Given the description of an element on the screen output the (x, y) to click on. 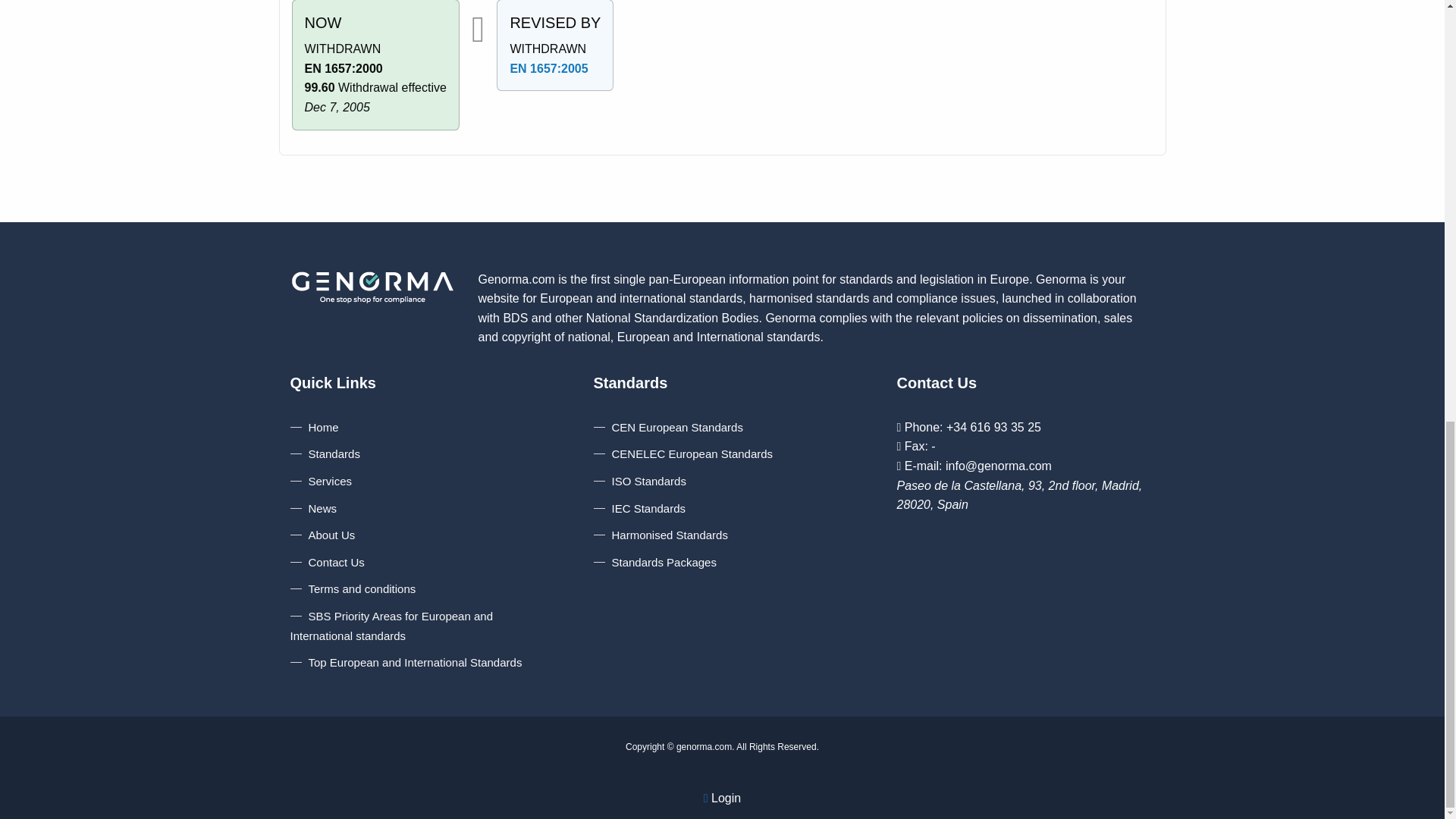
Services (320, 481)
Home (314, 427)
News (313, 508)
EN 1657:2005 (548, 68)
Standards (324, 453)
